Given the description of an element on the screen output the (x, y) to click on. 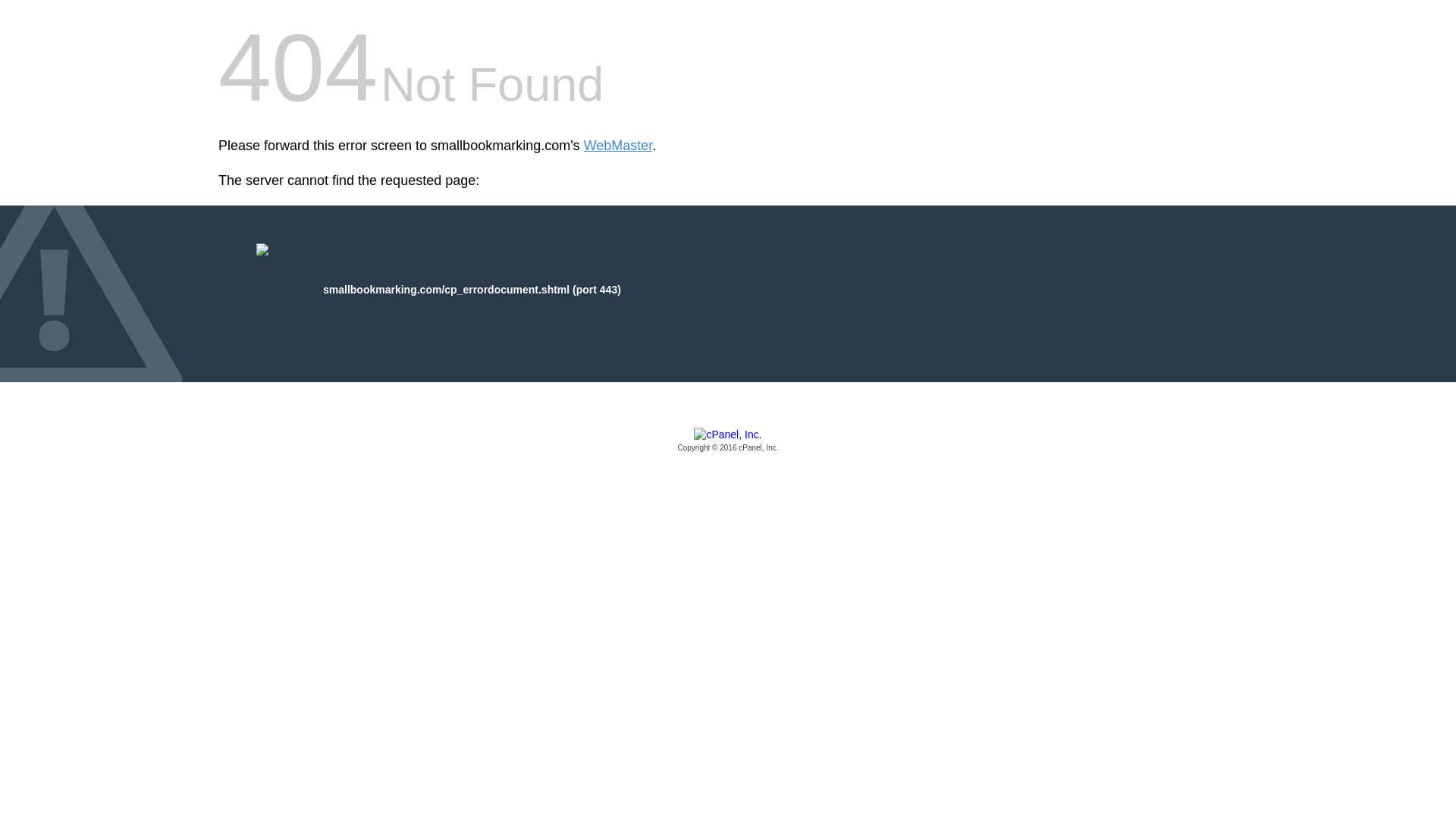
cPanel, Inc. (727, 440)
WebMaster (617, 145)
